Given the description of an element on the screen output the (x, y) to click on. 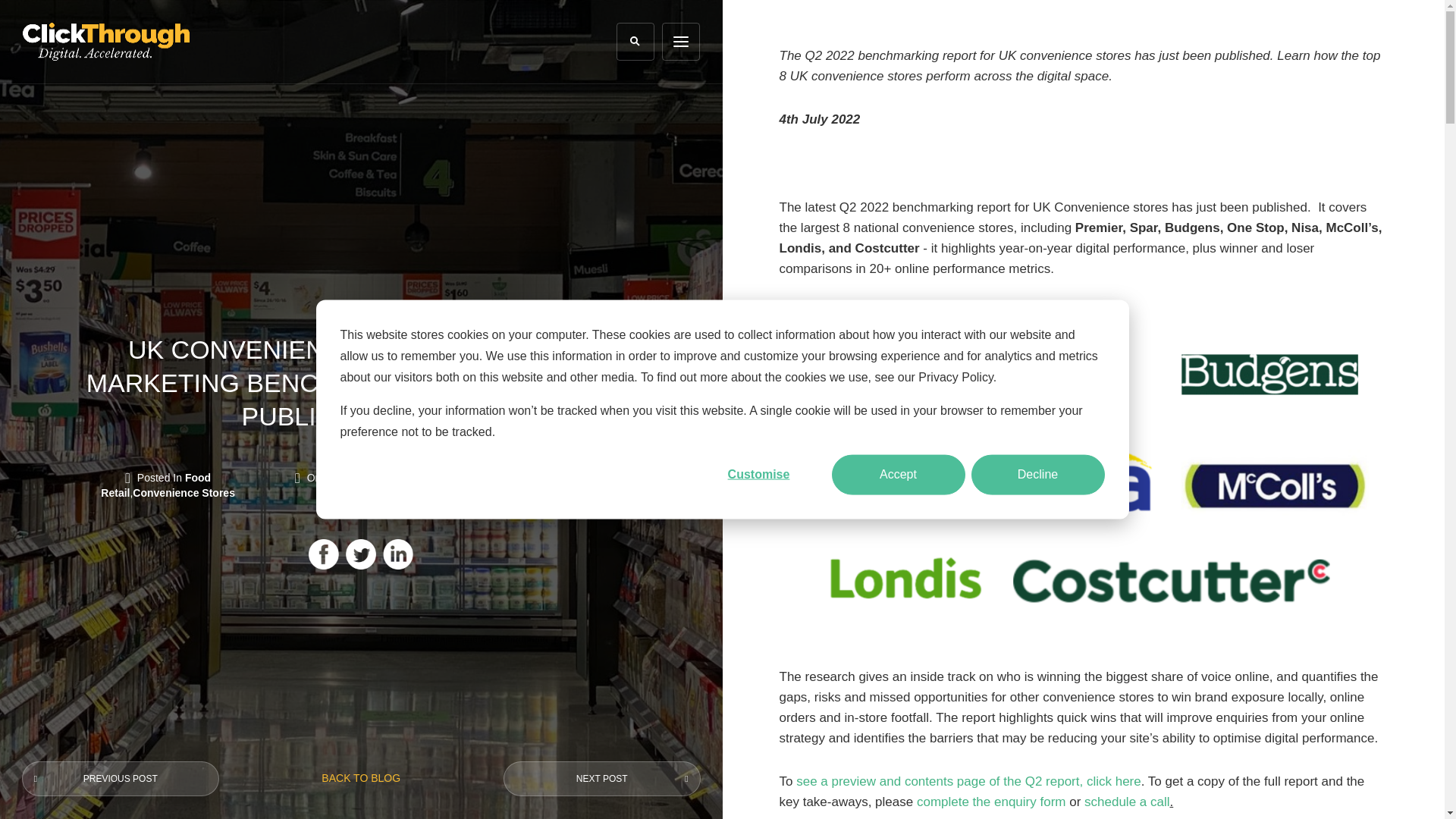
see a preview and contents page of the Q2 report, click here (968, 780)
Twitter (360, 553)
complete the enquiry form (991, 801)
LinkedIn (397, 553)
Facebook (323, 553)
NEXT POST (601, 778)
PREVIOUS POST (120, 778)
BACK TO BLOG (359, 777)
schedule a call (1126, 801)
